Given the description of an element on the screen output the (x, y) to click on. 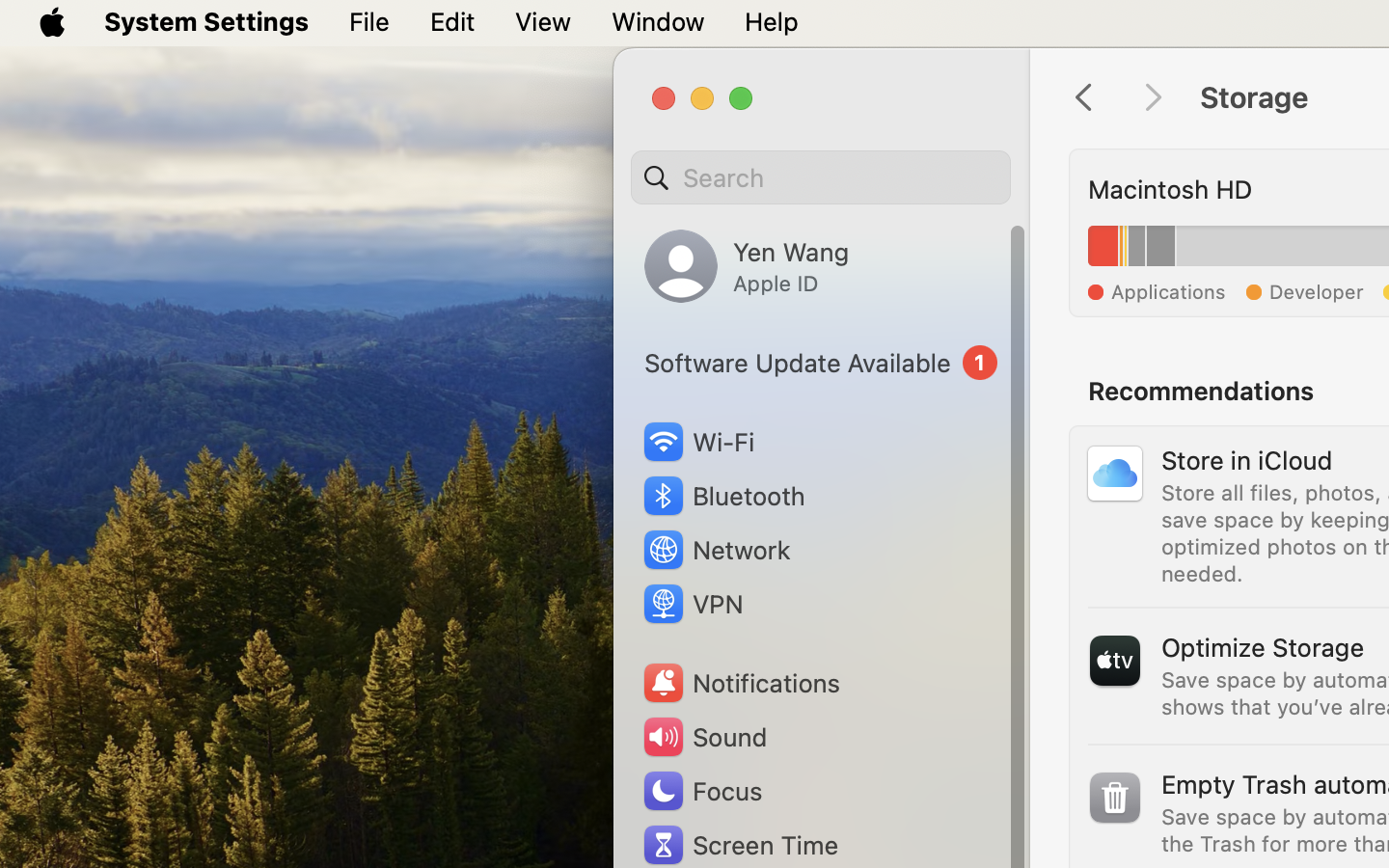
Yen Wang, Apple ID Element type: AXStaticText (746, 265)
Store in iCloud Element type: AXStaticText (1247, 458)
Sound Element type: AXStaticText (703, 736)
